Given the description of an element on the screen output the (x, y) to click on. 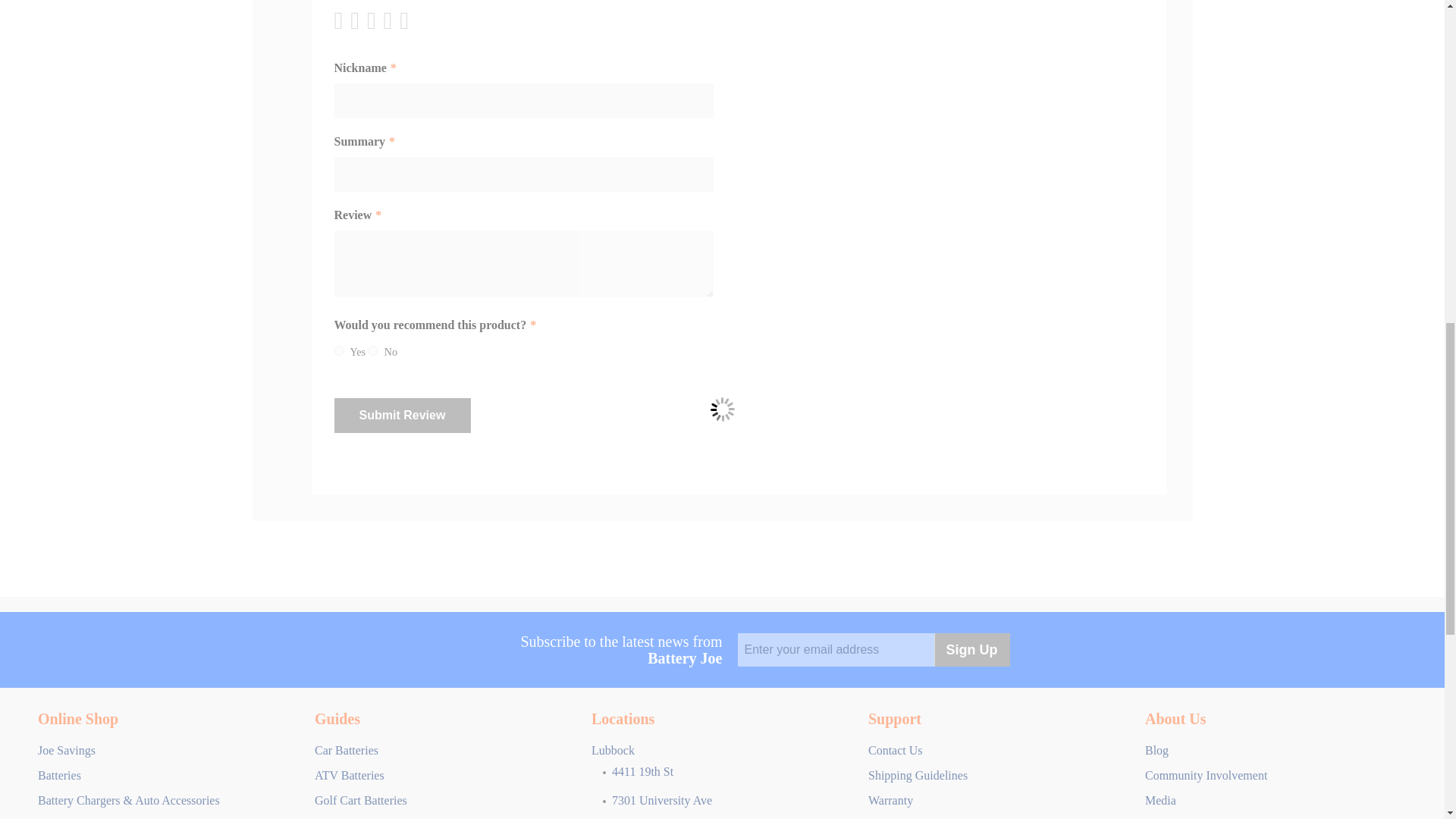
2 stars (349, 20)
1 (338, 350)
3 stars (357, 20)
0 (372, 350)
5 stars (373, 20)
4 stars (365, 20)
Subscribe (972, 649)
1 star (341, 20)
